Given the description of an element on the screen output the (x, y) to click on. 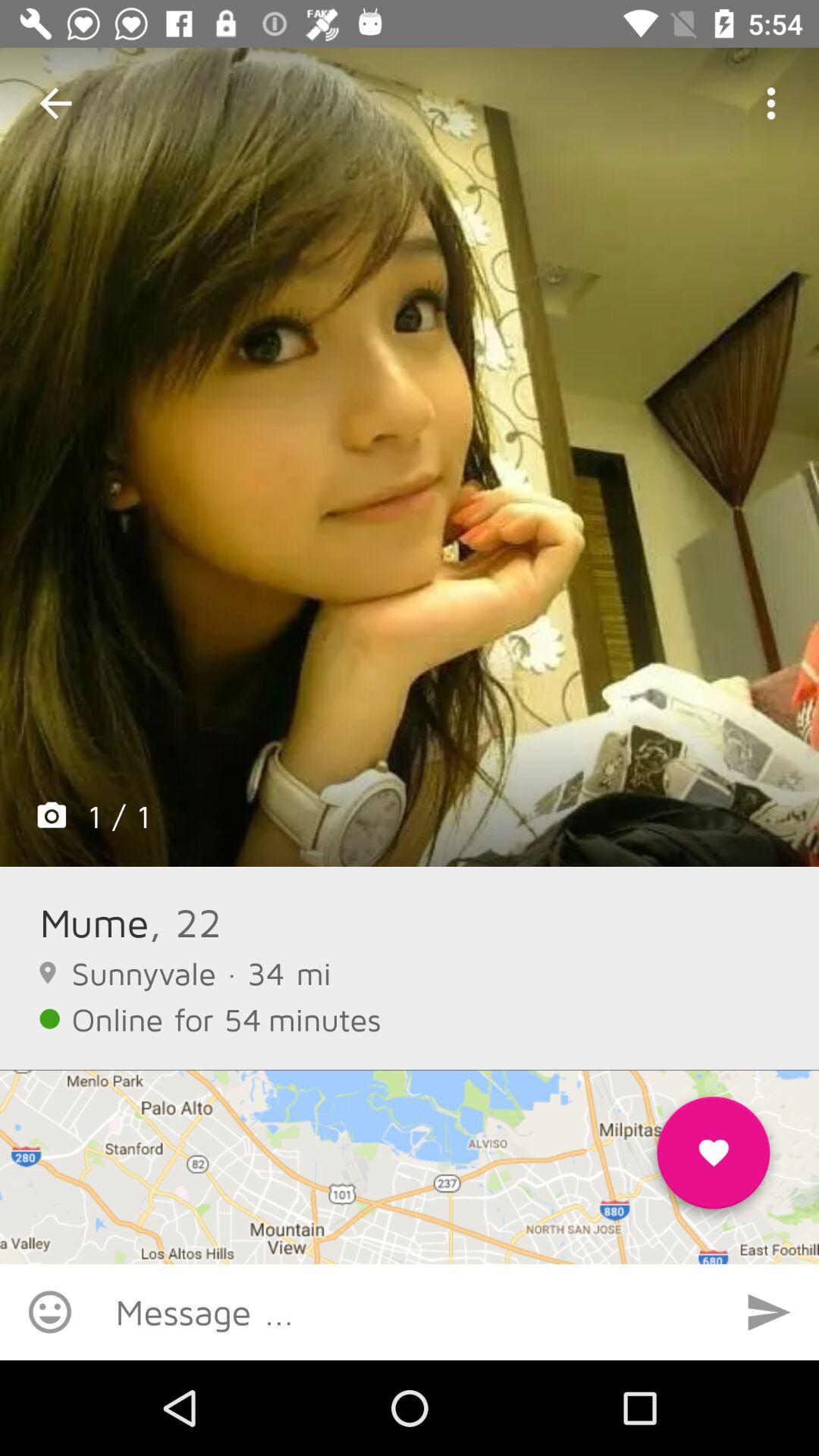
enter message (409, 1311)
